Given the description of an element on the screen output the (x, y) to click on. 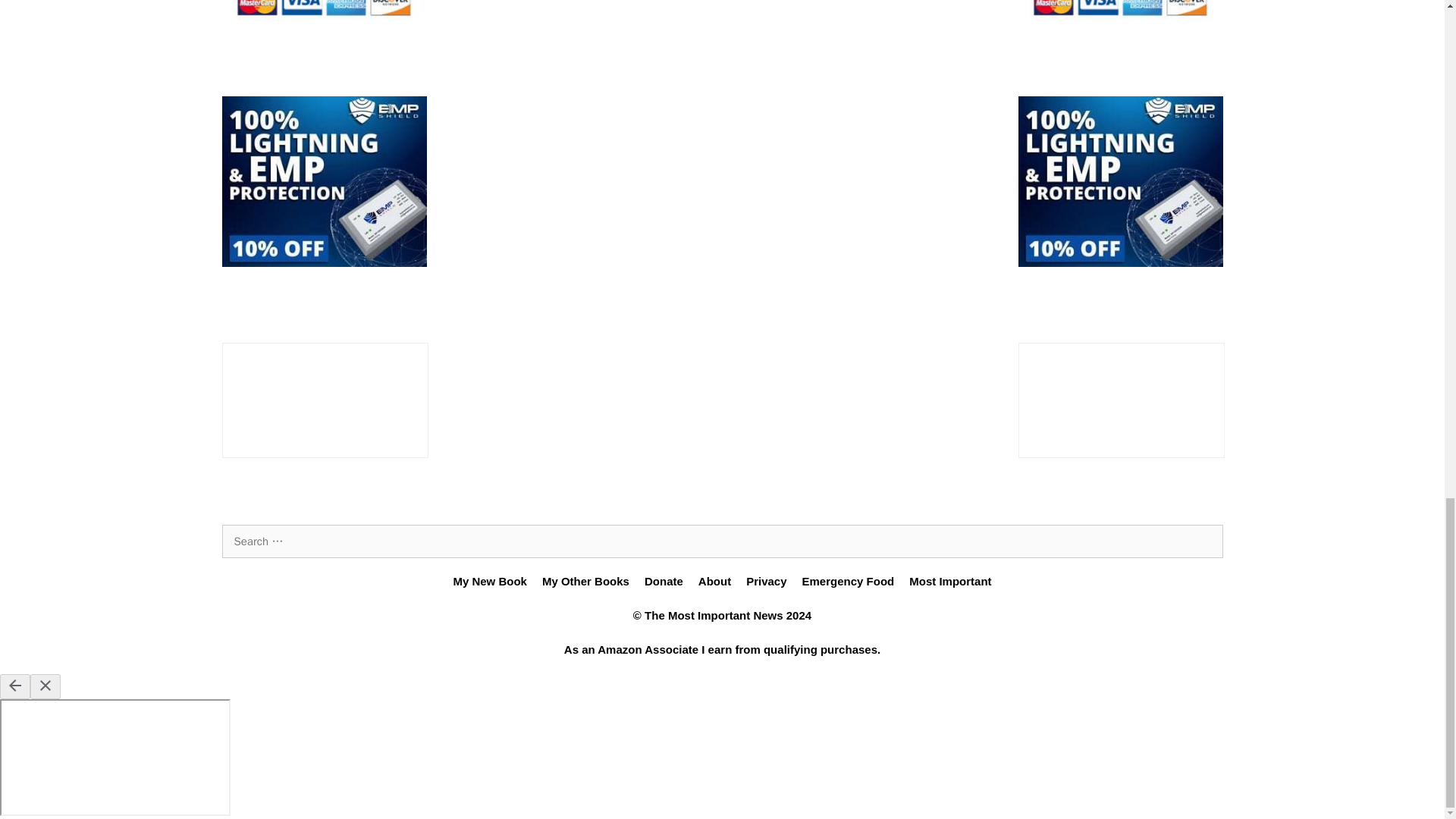
Most Important (949, 581)
My New Book (489, 581)
Emergency Food (848, 581)
My Other Books (584, 581)
Privacy (765, 581)
About (714, 581)
Donate (663, 581)
